Given the description of an element on the screen output the (x, y) to click on. 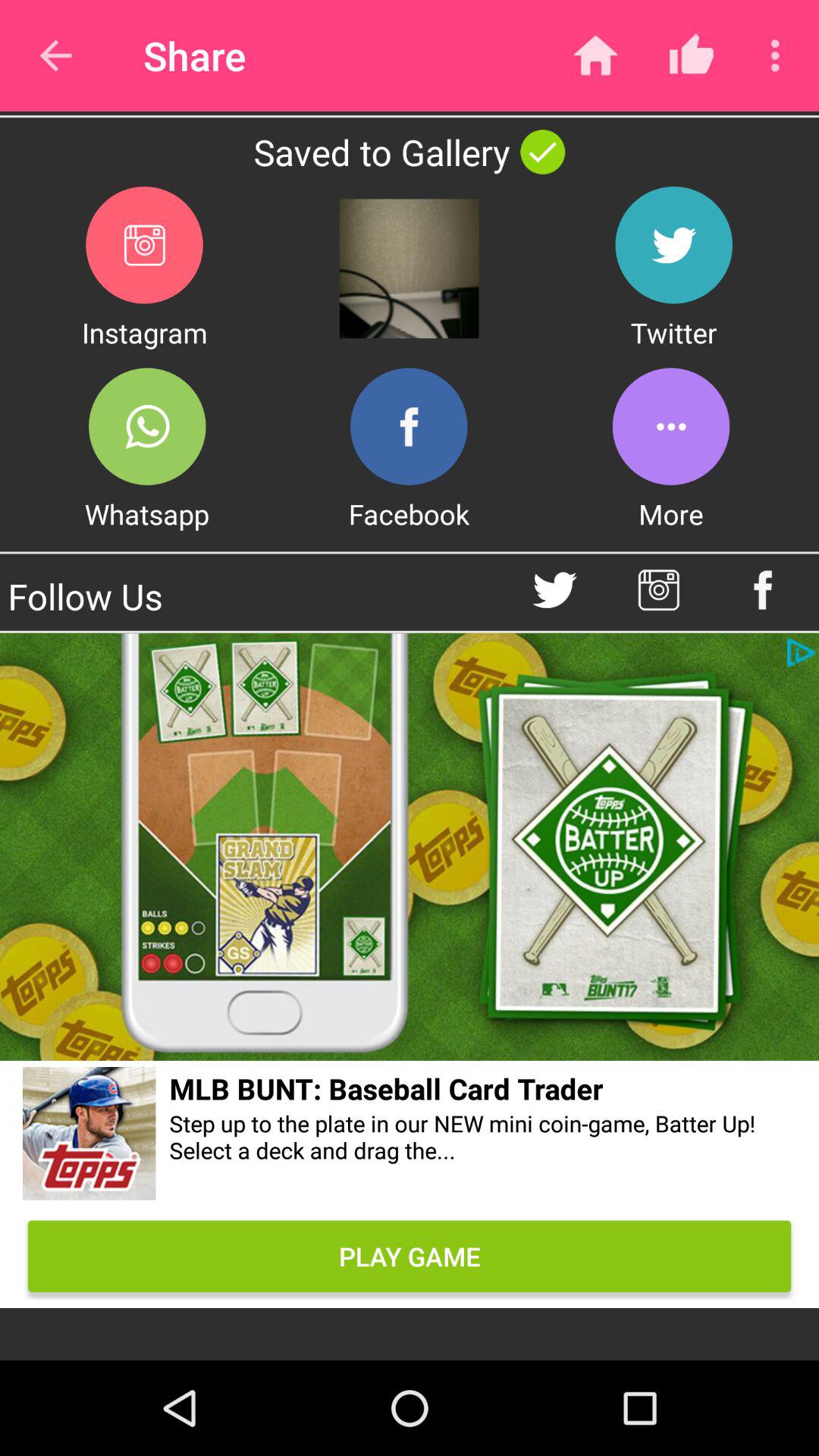
go to page (409, 846)
